Given the description of an element on the screen output the (x, y) to click on. 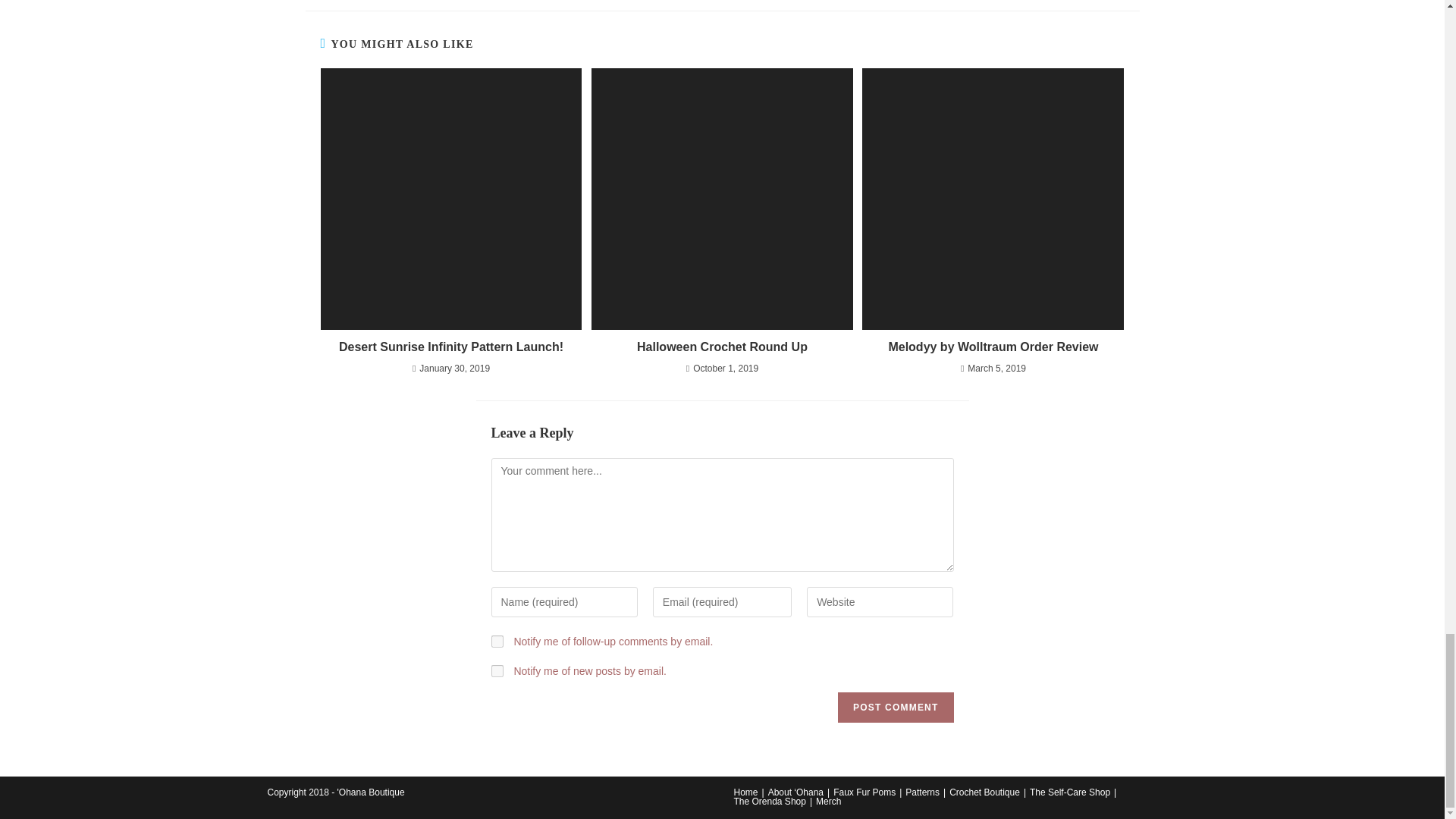
subscribe (497, 641)
subscribe (497, 671)
Post Comment (895, 707)
